Given the description of an element on the screen output the (x, y) to click on. 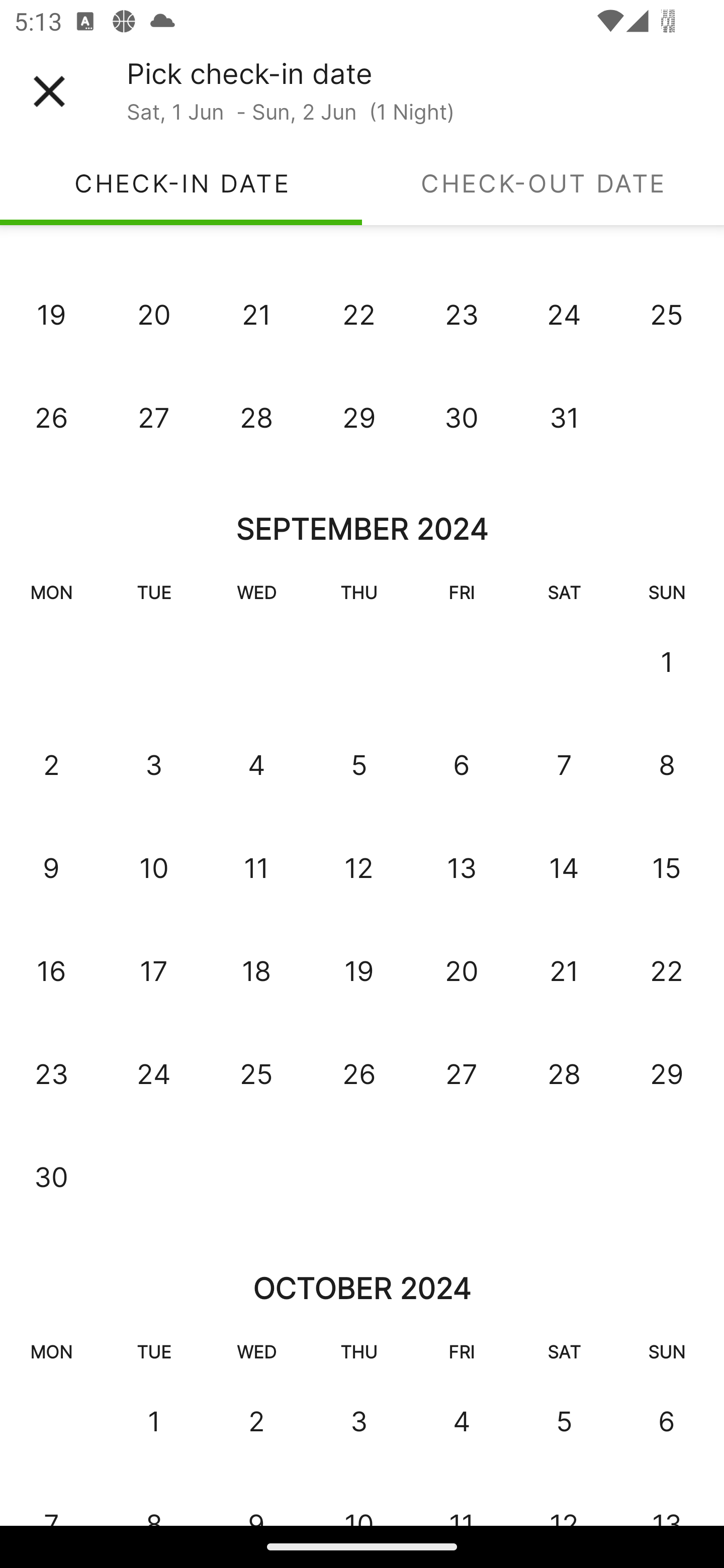
Check-out Date CHECK-OUT DATE (543, 183)
